Given the description of an element on the screen output the (x, y) to click on. 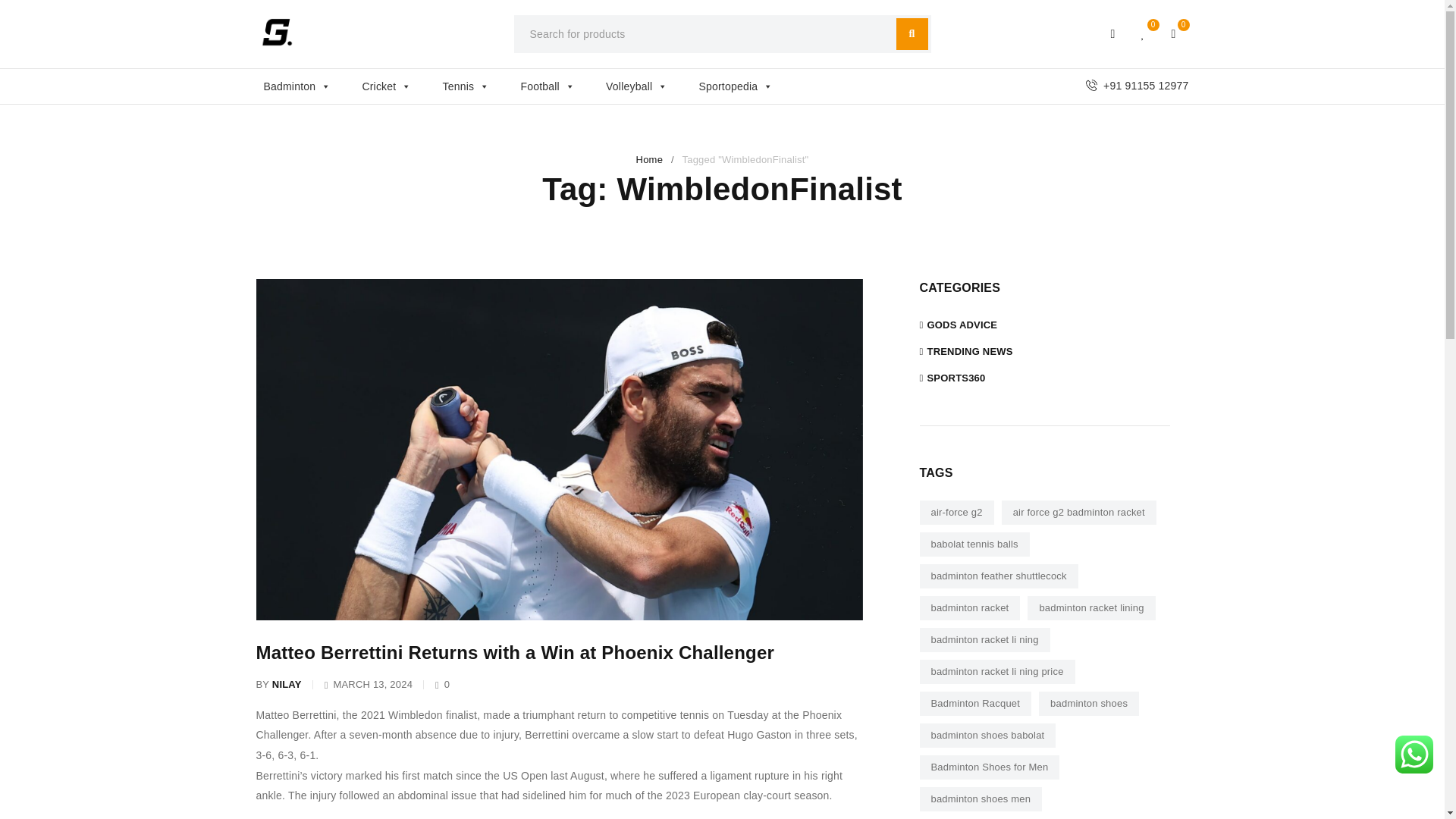
Search (912, 33)
Badminton (304, 86)
thegodofsports (277, 32)
Search (912, 33)
Posts by Nilay (286, 684)
0 (1173, 33)
0 (1143, 33)
Login or Register (1112, 33)
Wishlist (1143, 33)
View your shopping cart (1173, 33)
